Given the description of an element on the screen output the (x, y) to click on. 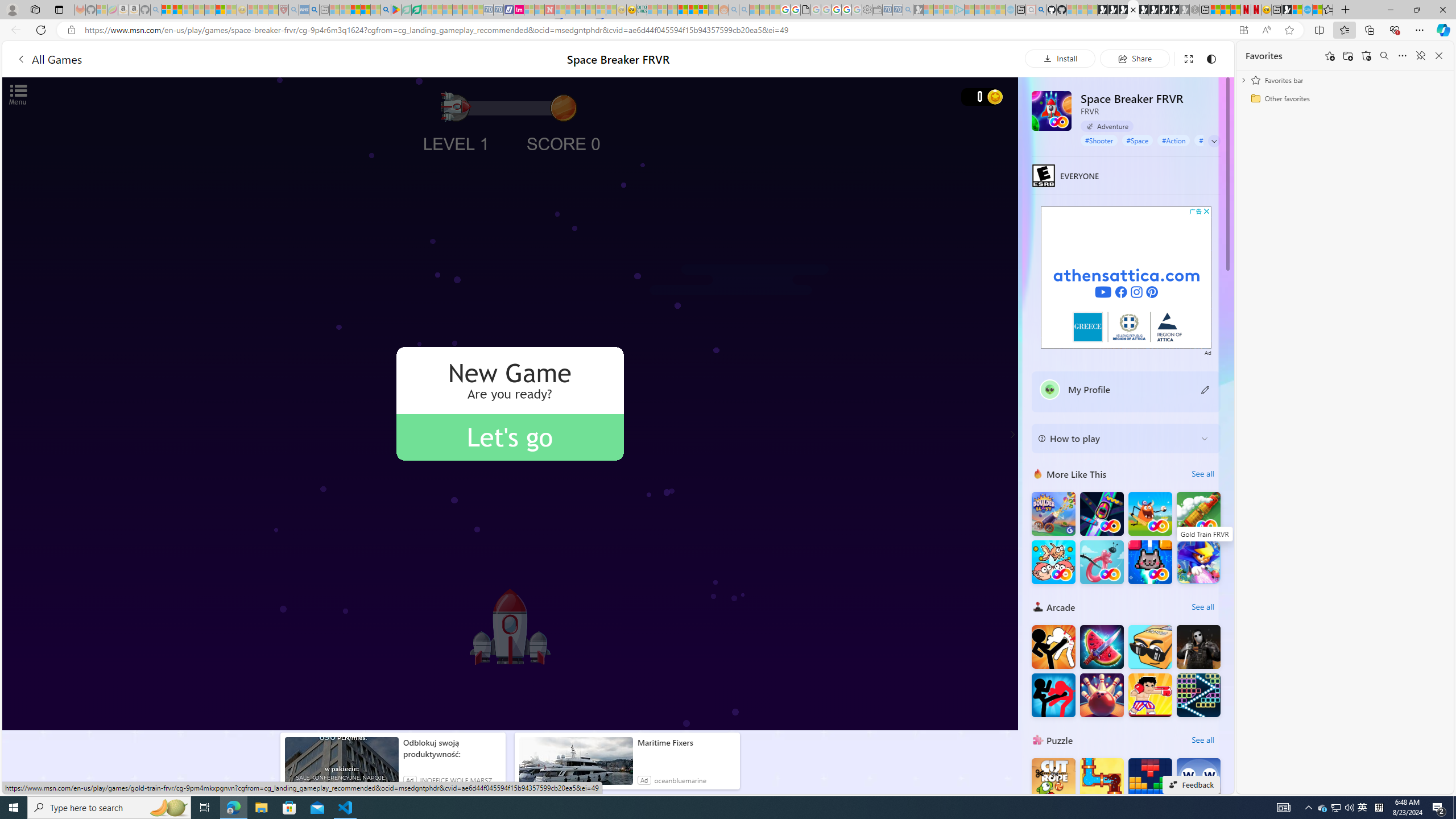
Local - MSN - Sleeping (273, 9)
Class: control (1214, 140)
Kinda Frugal - MSN (692, 9)
AutomationID: gameCanvas (509, 403)
Gold Train FRVR (1198, 513)
Jobs - lastminute.com Investor Portal (518, 9)
New tab - Sleeping (324, 9)
Maritime Fixers (686, 742)
Bumper Car FRVR (1101, 513)
Words of Wonders (1198, 779)
